Given the description of an element on the screen output the (x, y) to click on. 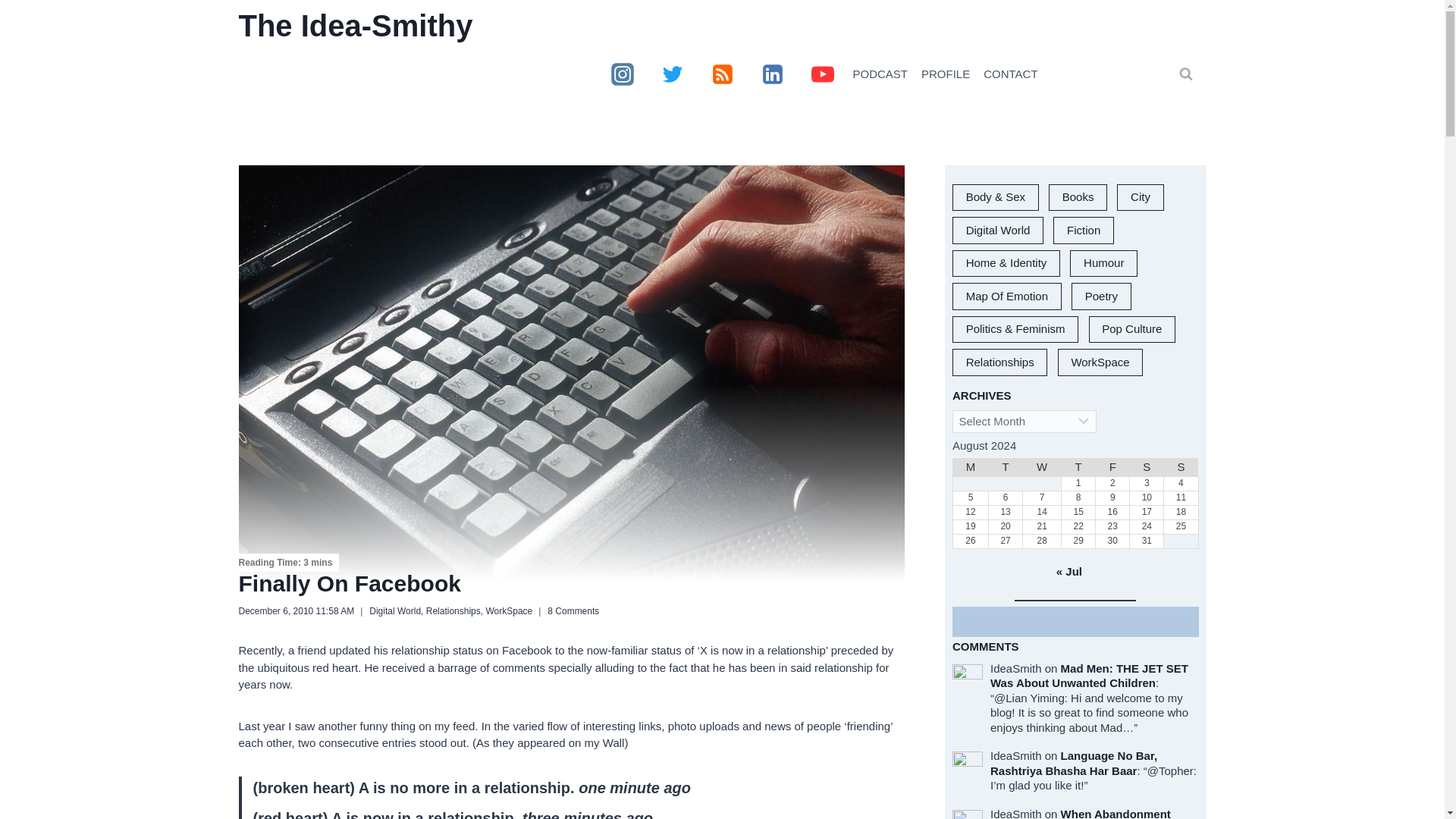
Thursday (1078, 466)
PROFILE (945, 74)
WorkSpace (508, 611)
Monday (970, 466)
PODCAST (880, 74)
Digital World (394, 611)
CONTACT (1009, 74)
Wednesday (1042, 466)
8 Comments (572, 611)
Tuesday (1005, 466)
